Given the description of an element on the screen output the (x, y) to click on. 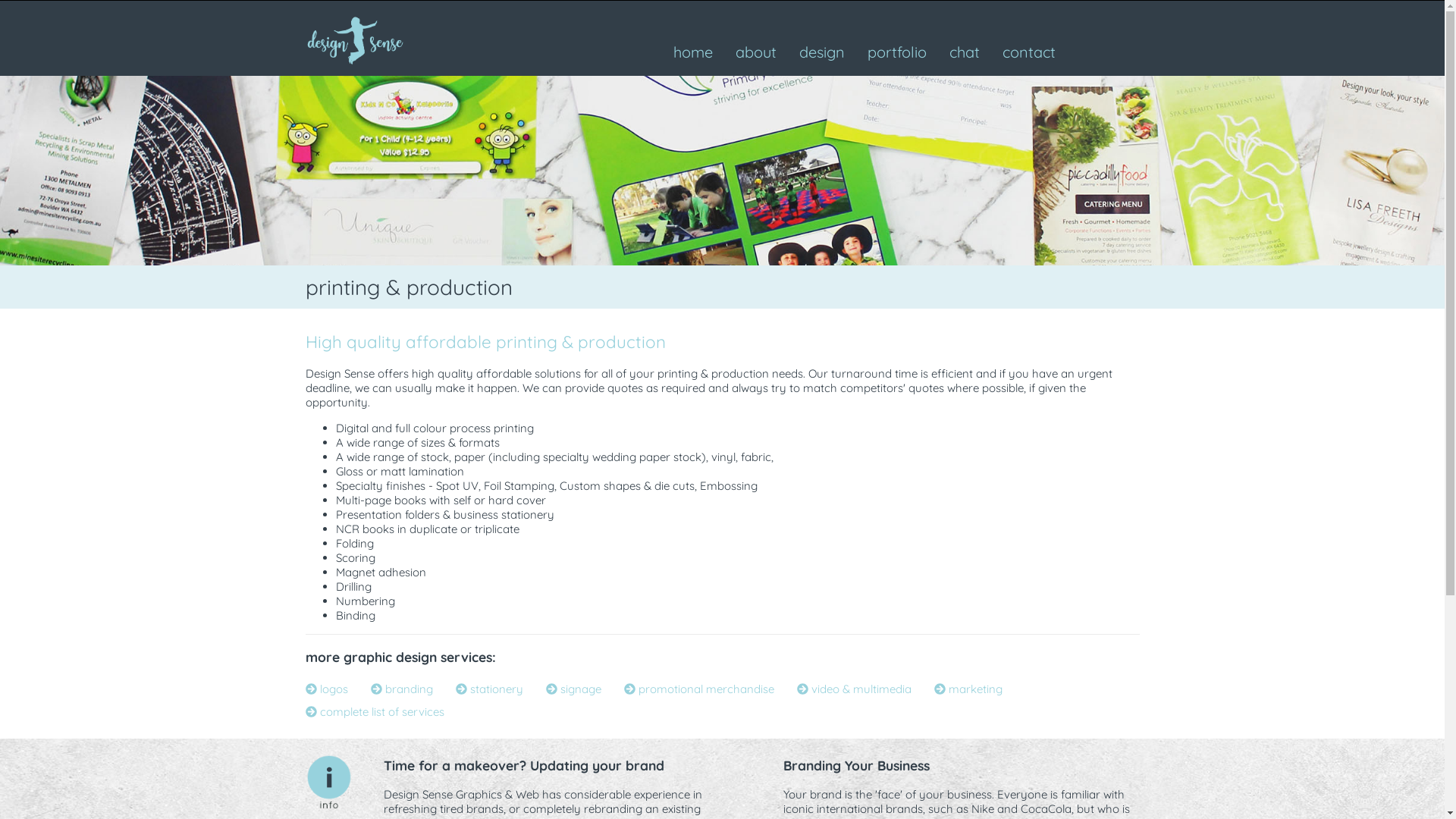
logos Element type: text (325, 688)
branding Element type: text (401, 688)
portfolio Element type: text (896, 51)
contact Element type: text (1028, 51)
about Element type: text (755, 51)
promotional merchandise Element type: text (698, 688)
home Element type: text (692, 51)
marketing Element type: text (968, 688)
stationery Element type: text (488, 688)
chat Element type: text (963, 51)
design Element type: text (821, 51)
signage Element type: text (573, 688)
complete list of services Element type: text (373, 711)
video & multimedia Element type: text (853, 688)
